Given the description of an element on the screen output the (x, y) to click on. 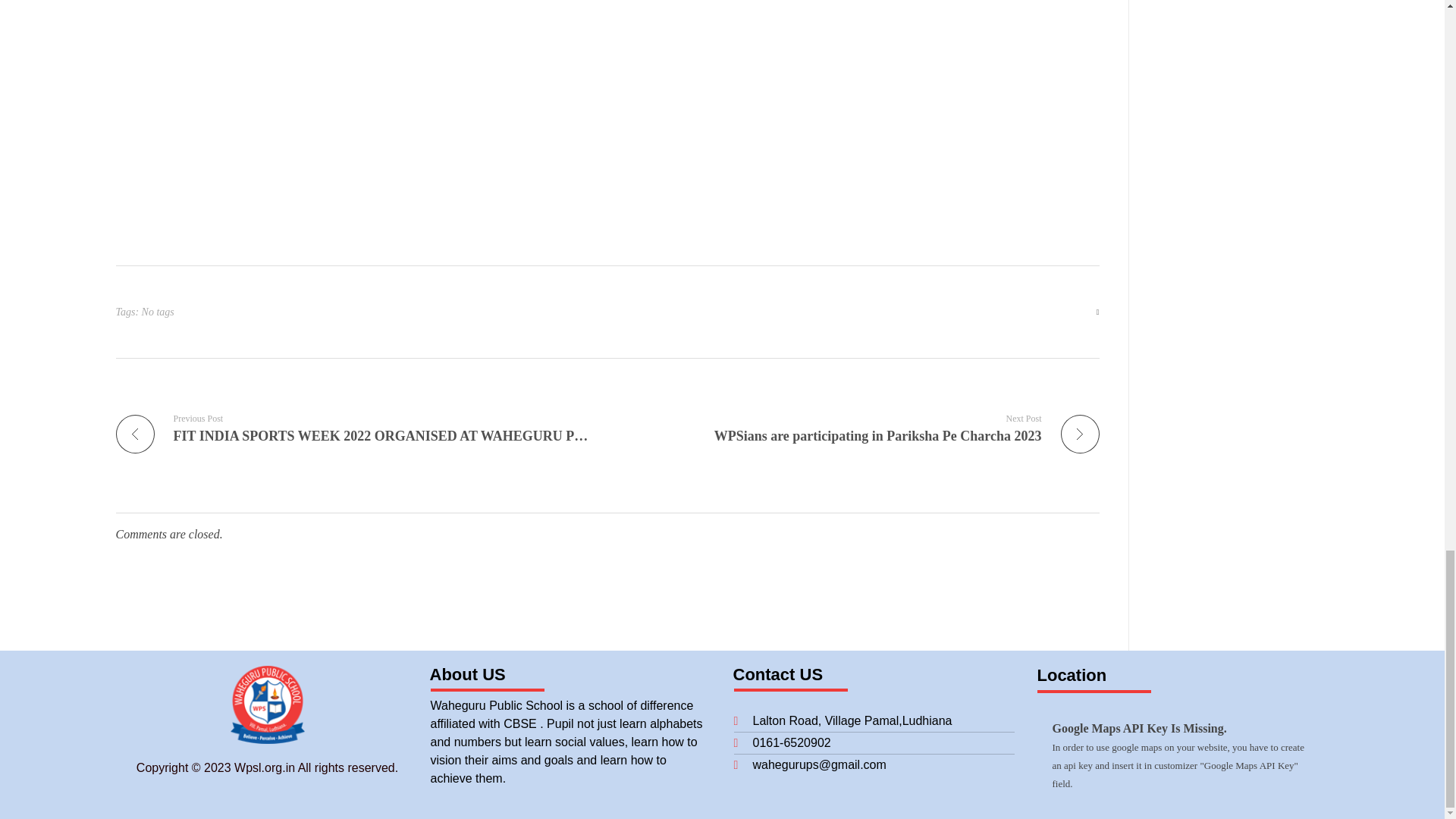
Lalton Road, Village Pamal,Ludhiana (873, 720)
0161-6520902 (873, 742)
